Given the description of an element on the screen output the (x, y) to click on. 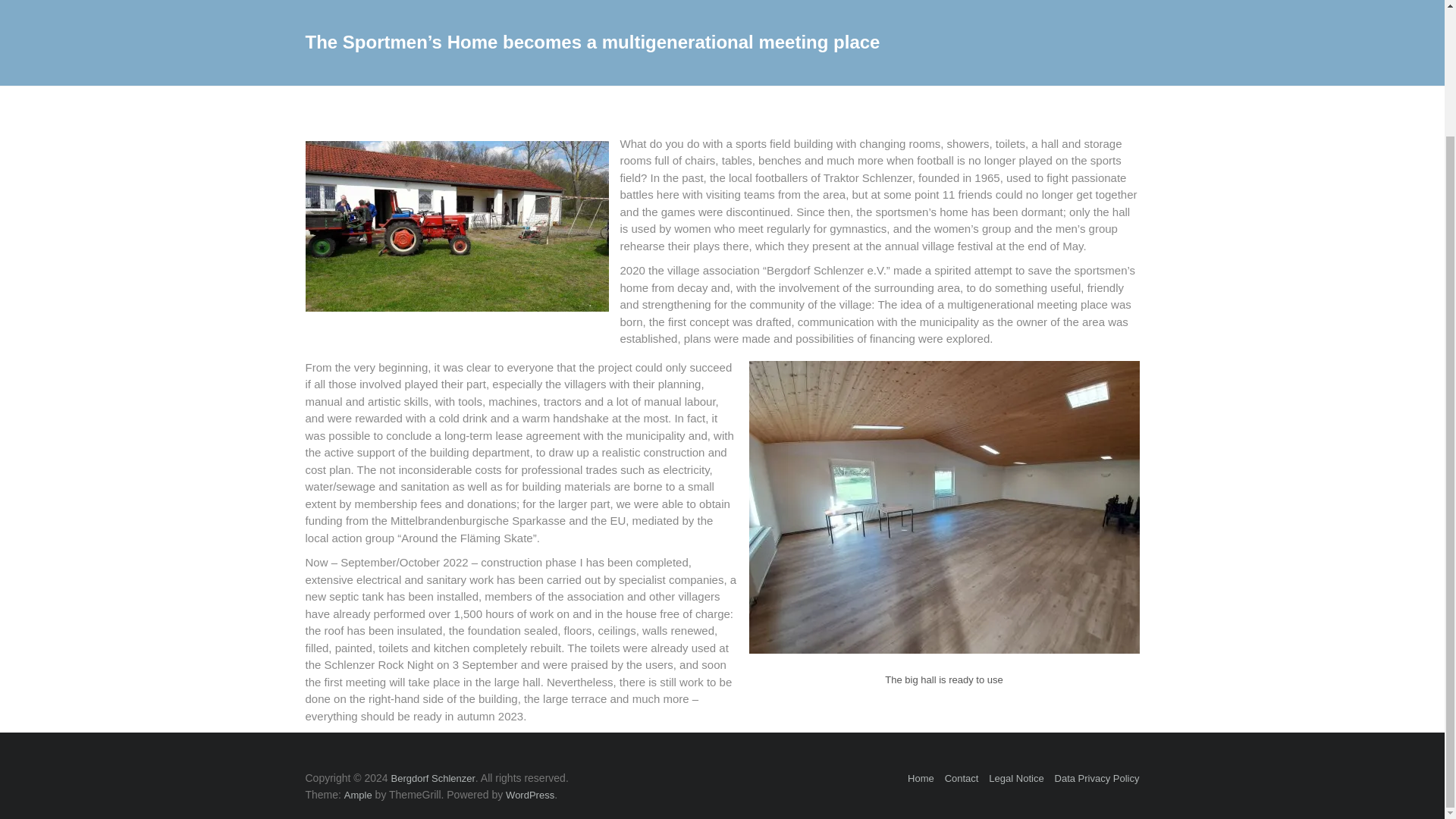
WordPress (529, 794)
IMG-20210519-WA0005 (456, 226)
Contact (961, 778)
Ample (357, 794)
Ample (357, 794)
WordPress (529, 794)
Bergdorf Schlenzer (433, 778)
Bergdorf Schlenzer (433, 778)
Home (920, 778)
Legal Notice (1015, 778)
